Given the description of an element on the screen output the (x, y) to click on. 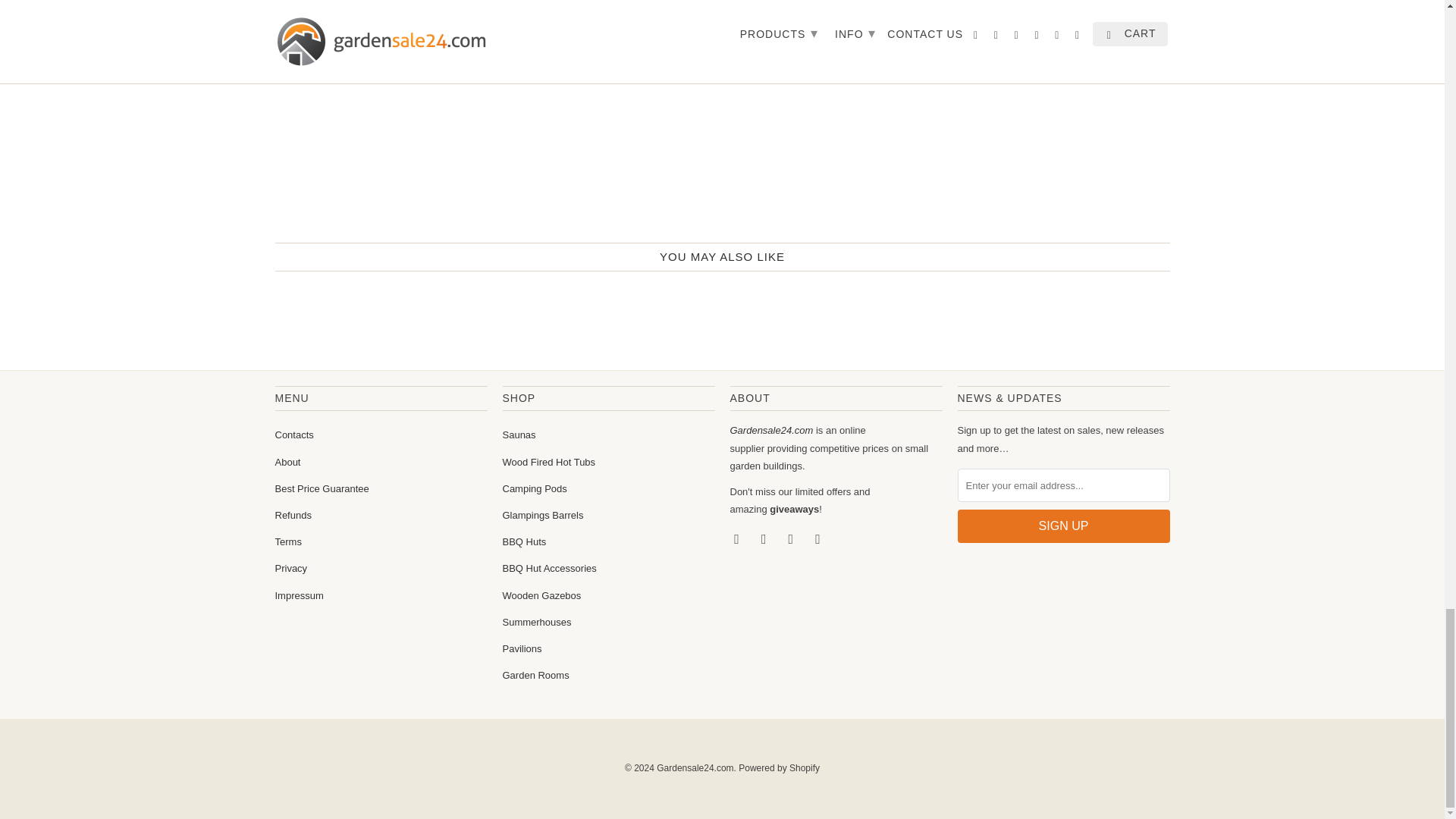
Sign Up (1062, 525)
